Given the description of an element on the screen output the (x, y) to click on. 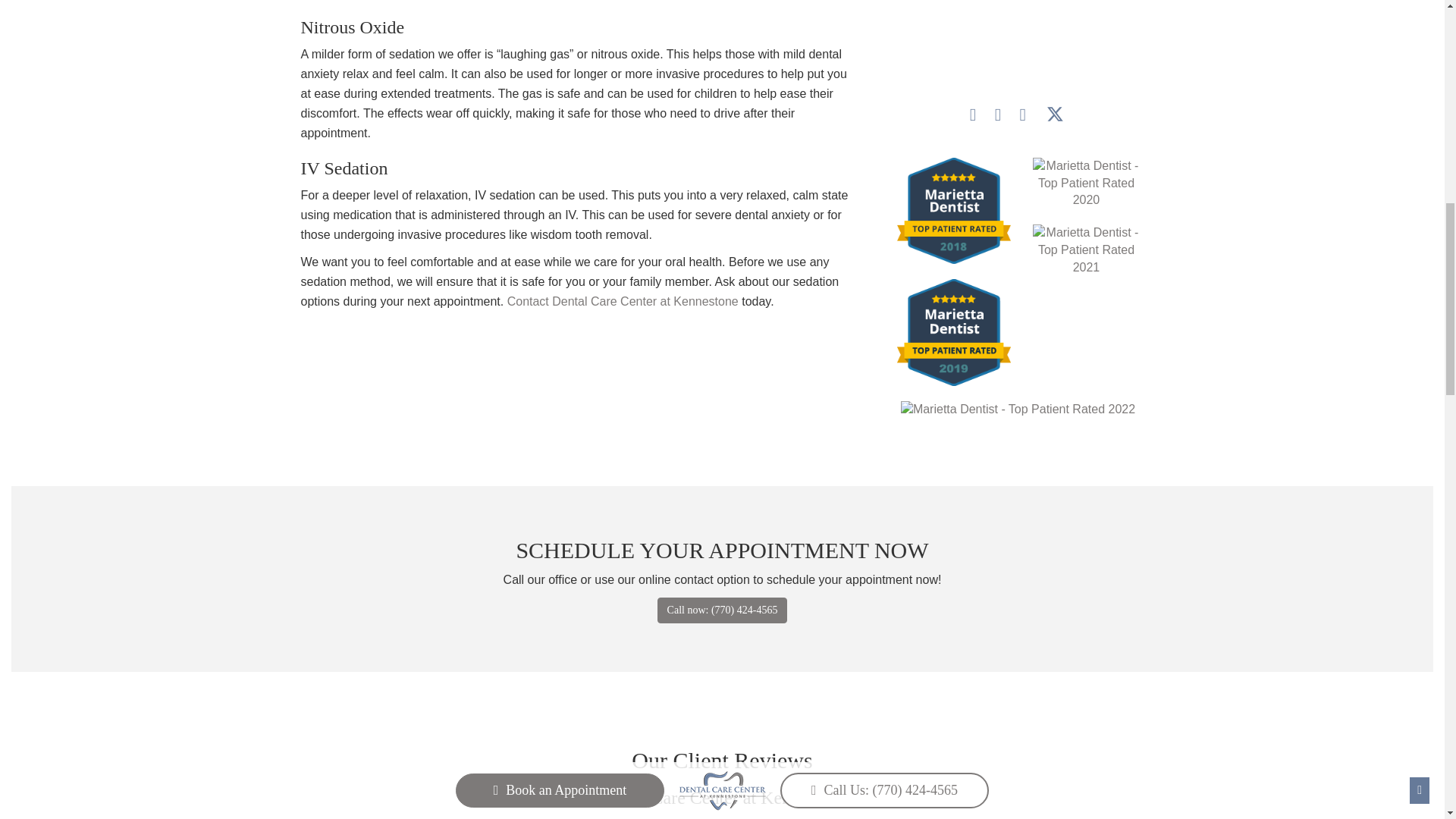
Contact Dental Care Center at Kennestone in Marietta GA (622, 300)
